Given the description of an element on the screen output the (x, y) to click on. 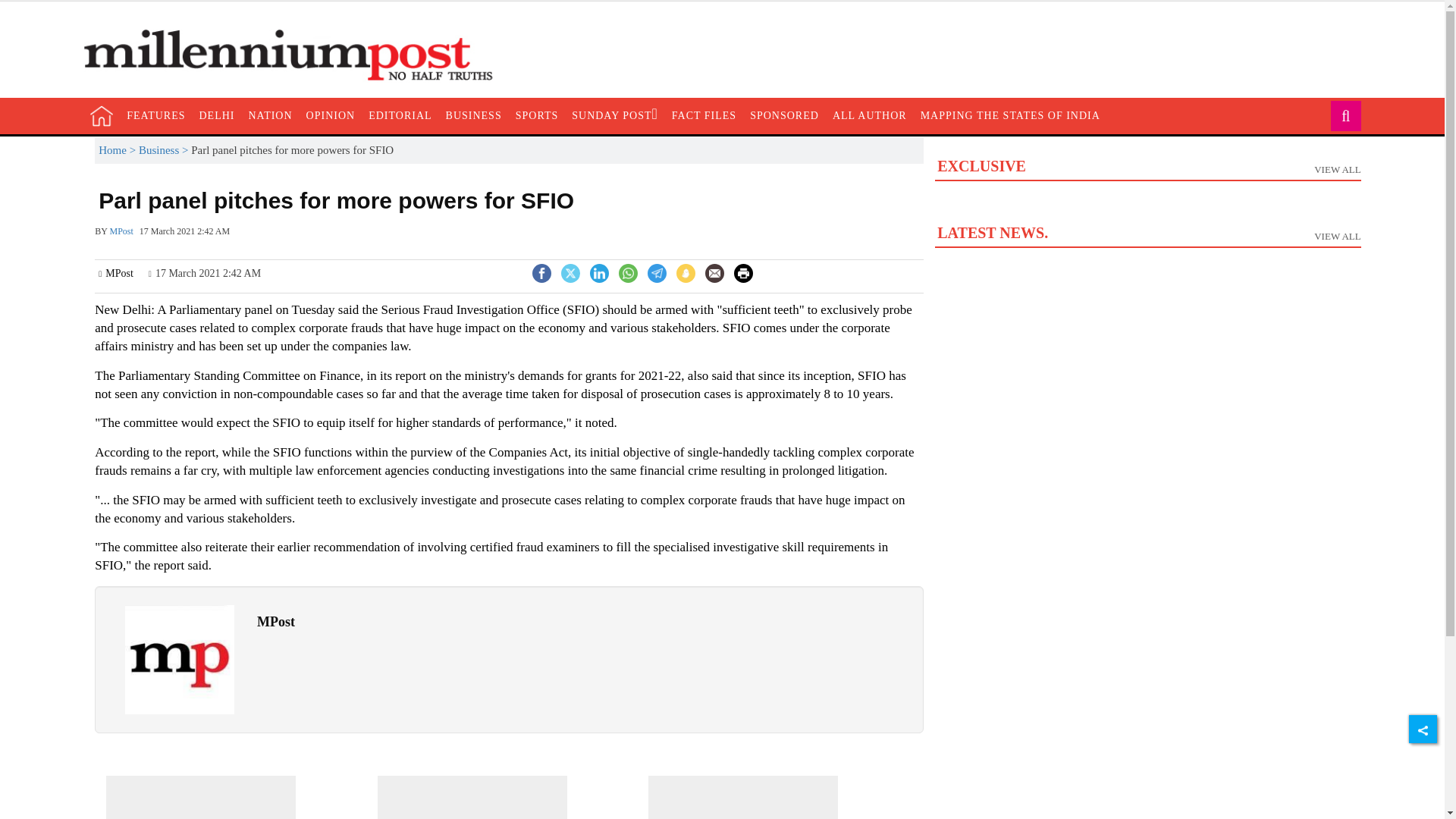
MillenniumPost (295, 55)
FEATURES (155, 115)
telegram (656, 273)
BUSINESS (473, 115)
Share by Email (713, 275)
whatsapp (628, 273)
ALL AUTHOR (869, 115)
print (743, 273)
SPONSORED (783, 115)
Print (742, 271)
Twitter (569, 271)
FACT FILES (1146, 204)
linkedin (703, 115)
Email (599, 273)
